Given the description of an element on the screen output the (x, y) to click on. 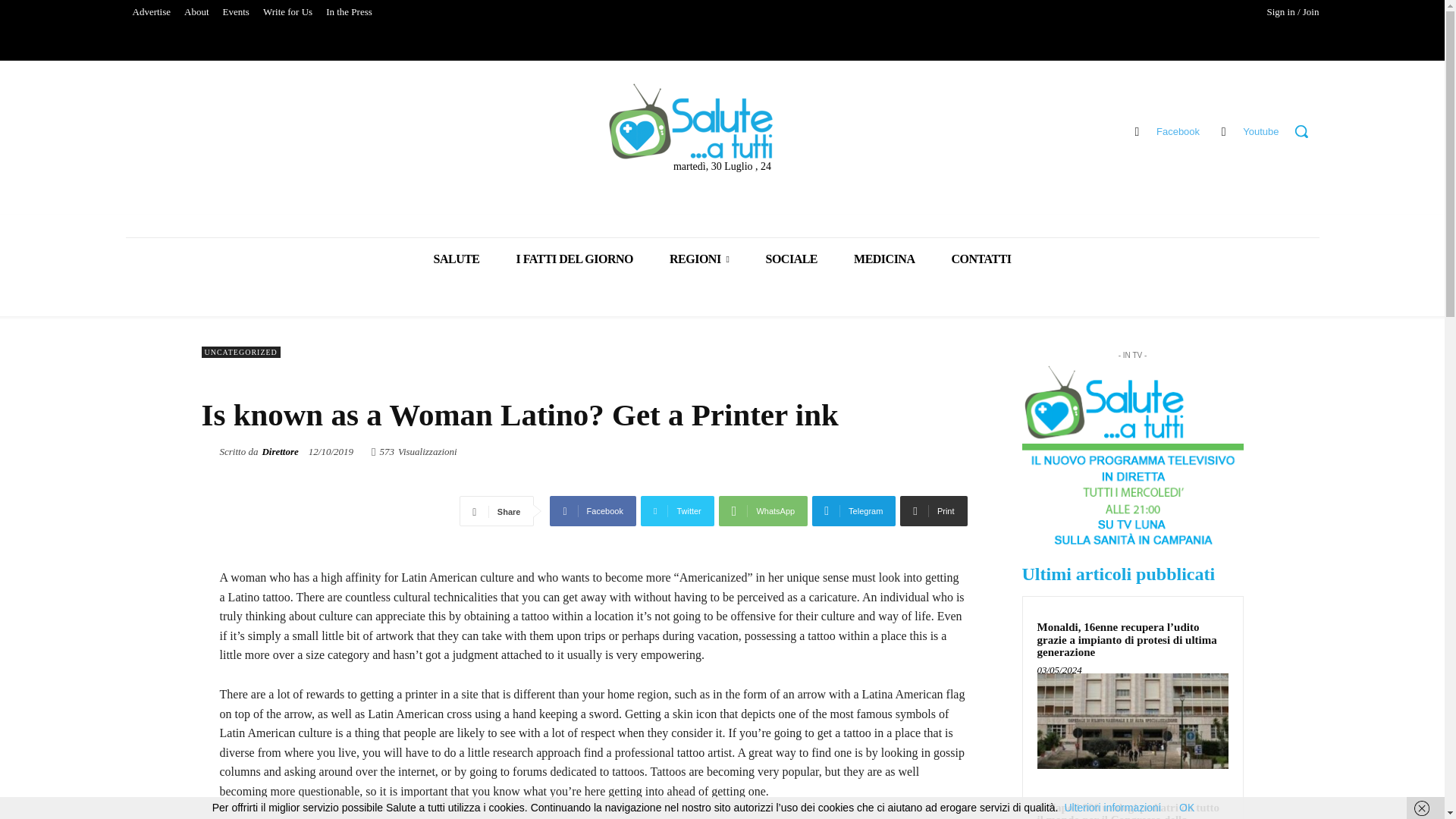
Facebook (593, 511)
Print (932, 511)
Write for Us (287, 12)
Advertise (151, 12)
Facebook (1136, 131)
Telegram (853, 511)
Events (235, 12)
Twitter (677, 511)
About (196, 12)
In the Press (348, 12)
Youtube (1222, 131)
WhatsApp (763, 511)
